Given the description of an element on the screen output the (x, y) to click on. 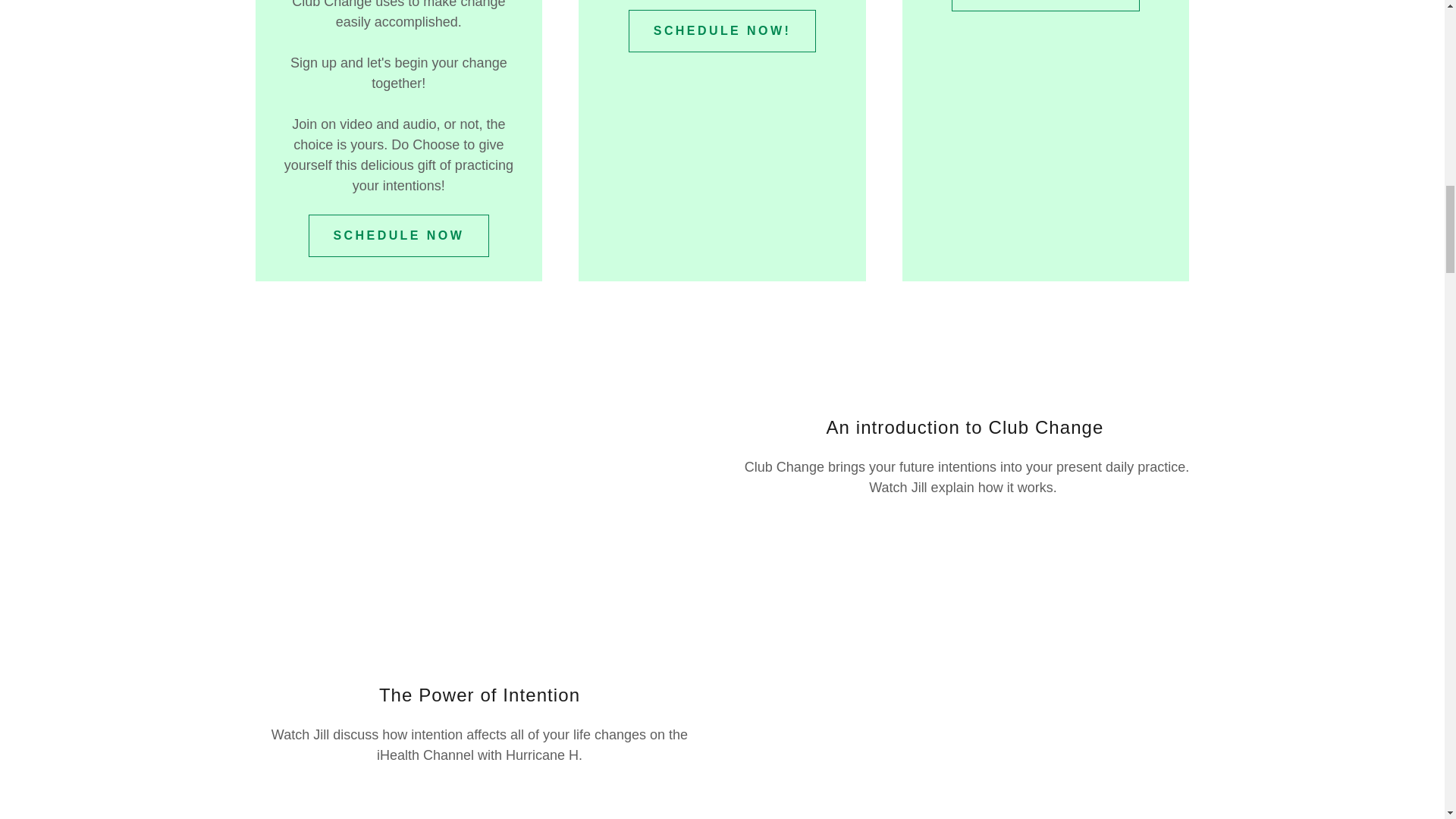
SCHEDULE NOW! (1045, 5)
SCHEDULE NOW (398, 235)
SCHEDULE NOW! (721, 30)
